Given the description of an element on the screen output the (x, y) to click on. 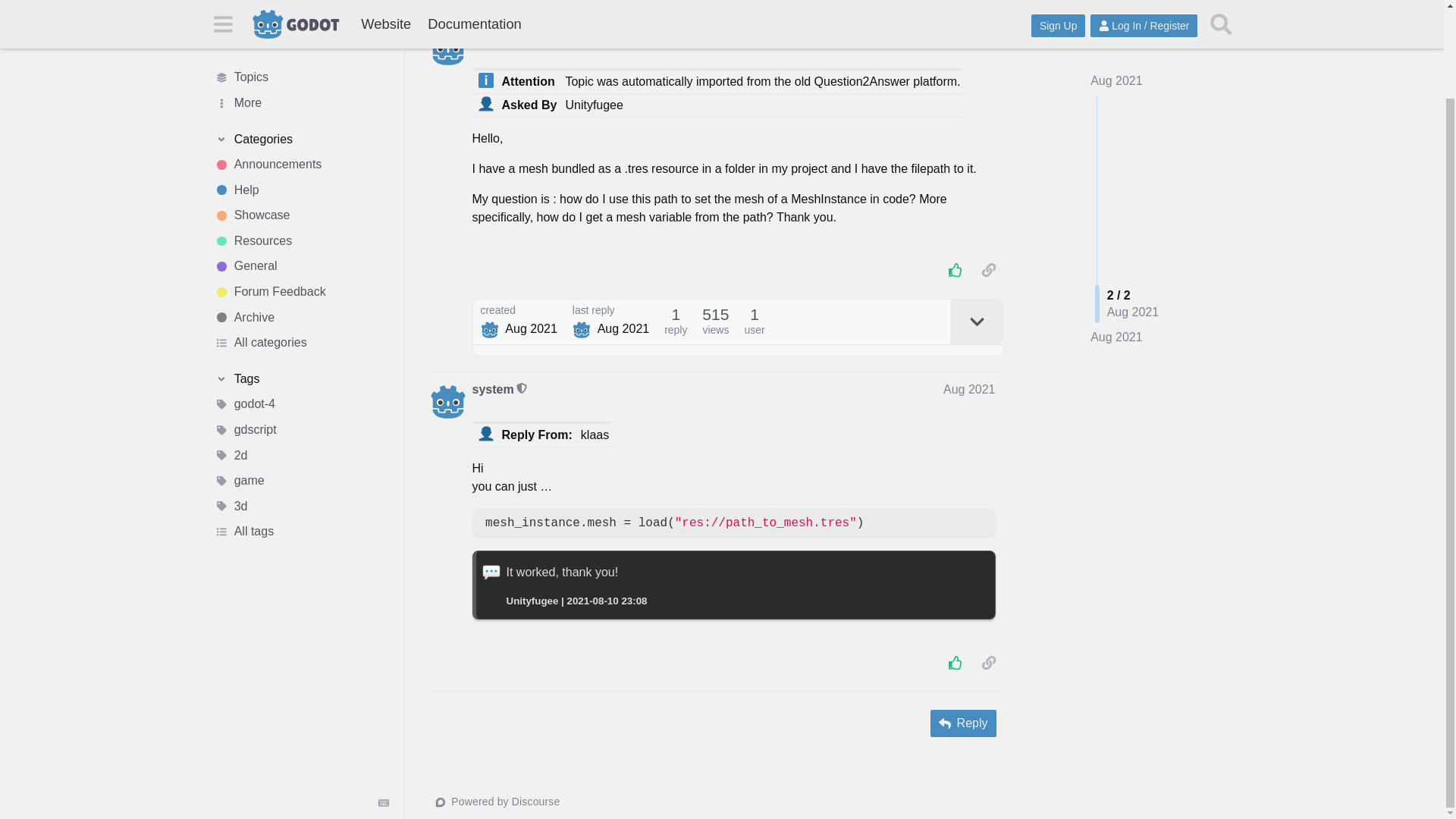
Toggle section (301, 38)
Aug 2021 (1116, 282)
game (301, 380)
gdscript (301, 329)
All categories (301, 242)
Tags (301, 278)
Official blog posts and other Godot announcements. (301, 63)
General (301, 166)
Announcements (301, 63)
Categories (301, 38)
Help (301, 89)
Resources (301, 140)
Forum Feedback (301, 190)
